Given the description of an element on the screen output the (x, y) to click on. 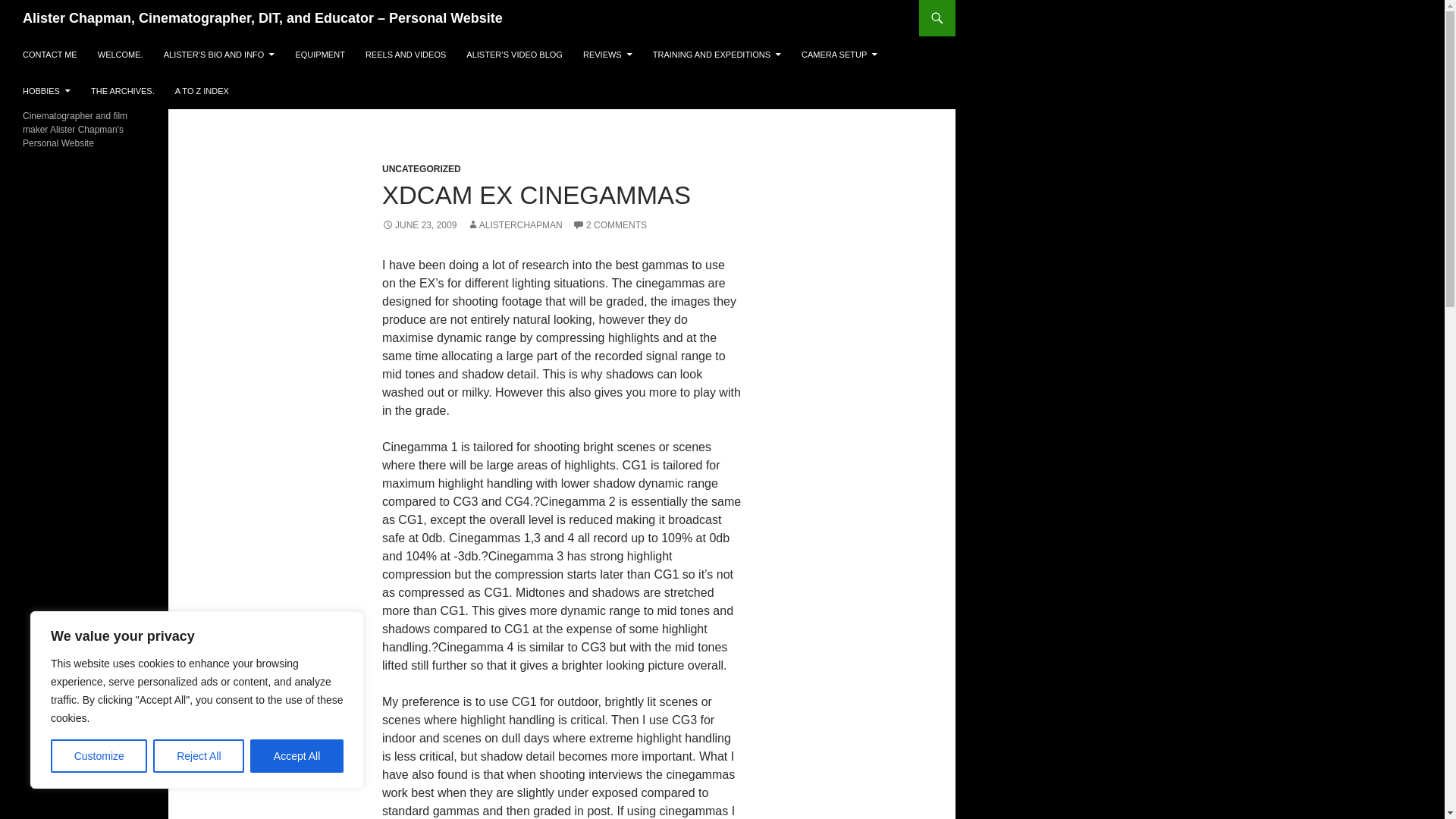
Accept All (296, 756)
REELS AND VIDEOS (405, 54)
Reject All (198, 756)
REVIEWS (607, 54)
EQUIPMENT (319, 54)
CONTACT ME (49, 54)
WELCOME. (120, 54)
Customize (98, 756)
